Given the description of an element on the screen output the (x, y) to click on. 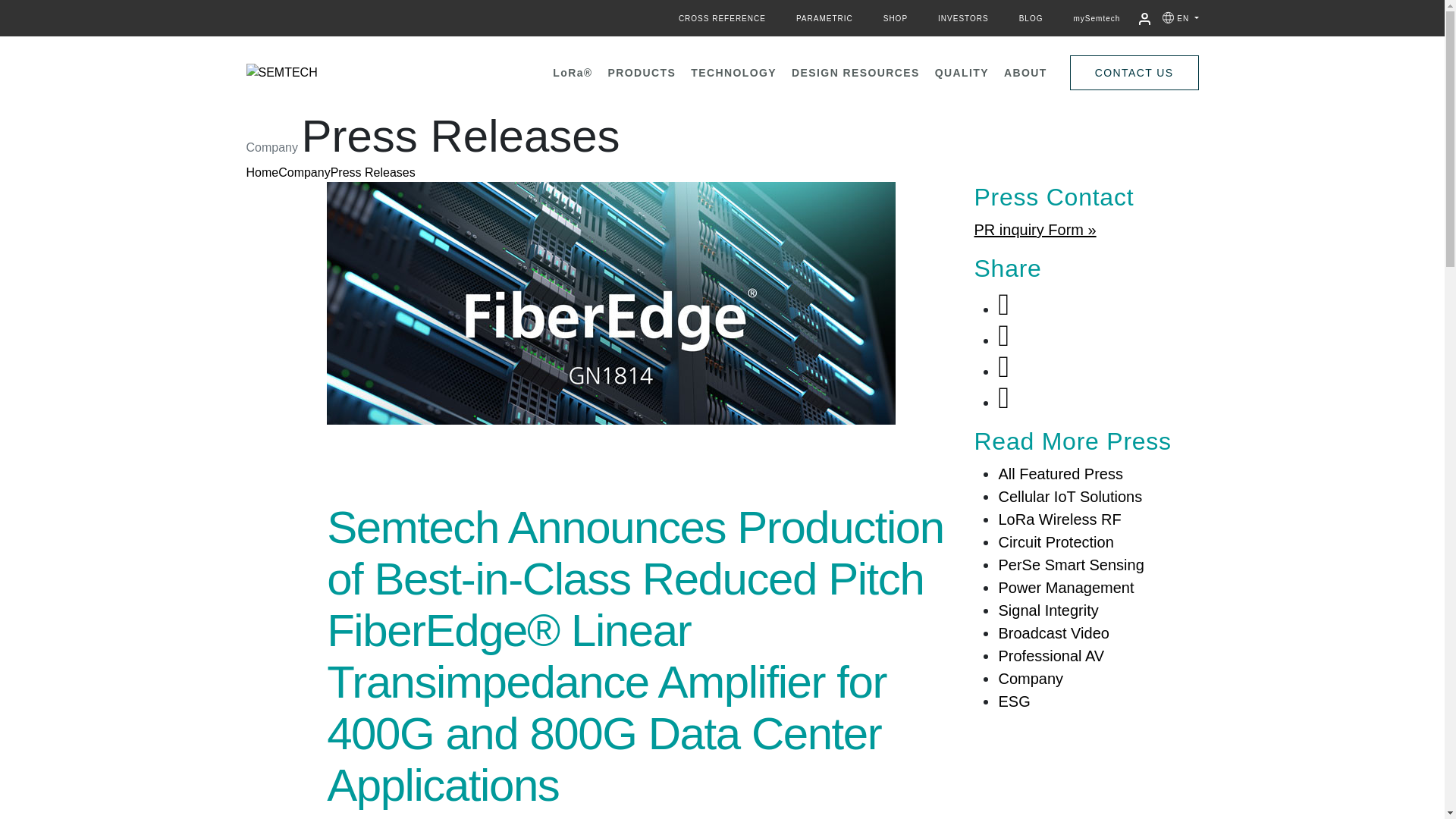
EN (1187, 17)
BLOG (1031, 17)
Semtech (281, 72)
INVESTORS (963, 17)
PARAMETRIC (823, 17)
mySemtech (1096, 18)
smtc (281, 72)
SHOP (895, 17)
CROSS REFERENCE (721, 17)
